Given the description of an element on the screen output the (x, y) to click on. 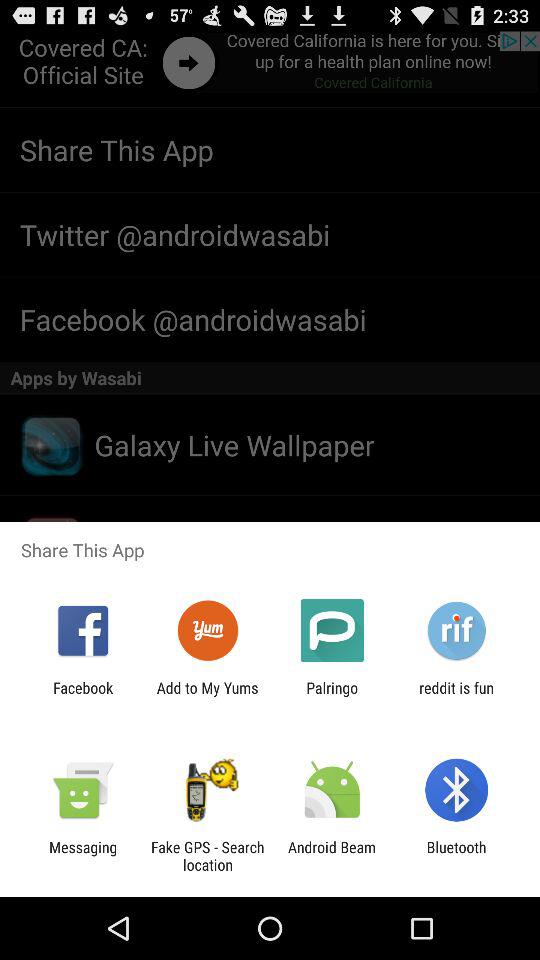
launch fake gps search item (207, 856)
